Given the description of an element on the screen output the (x, y) to click on. 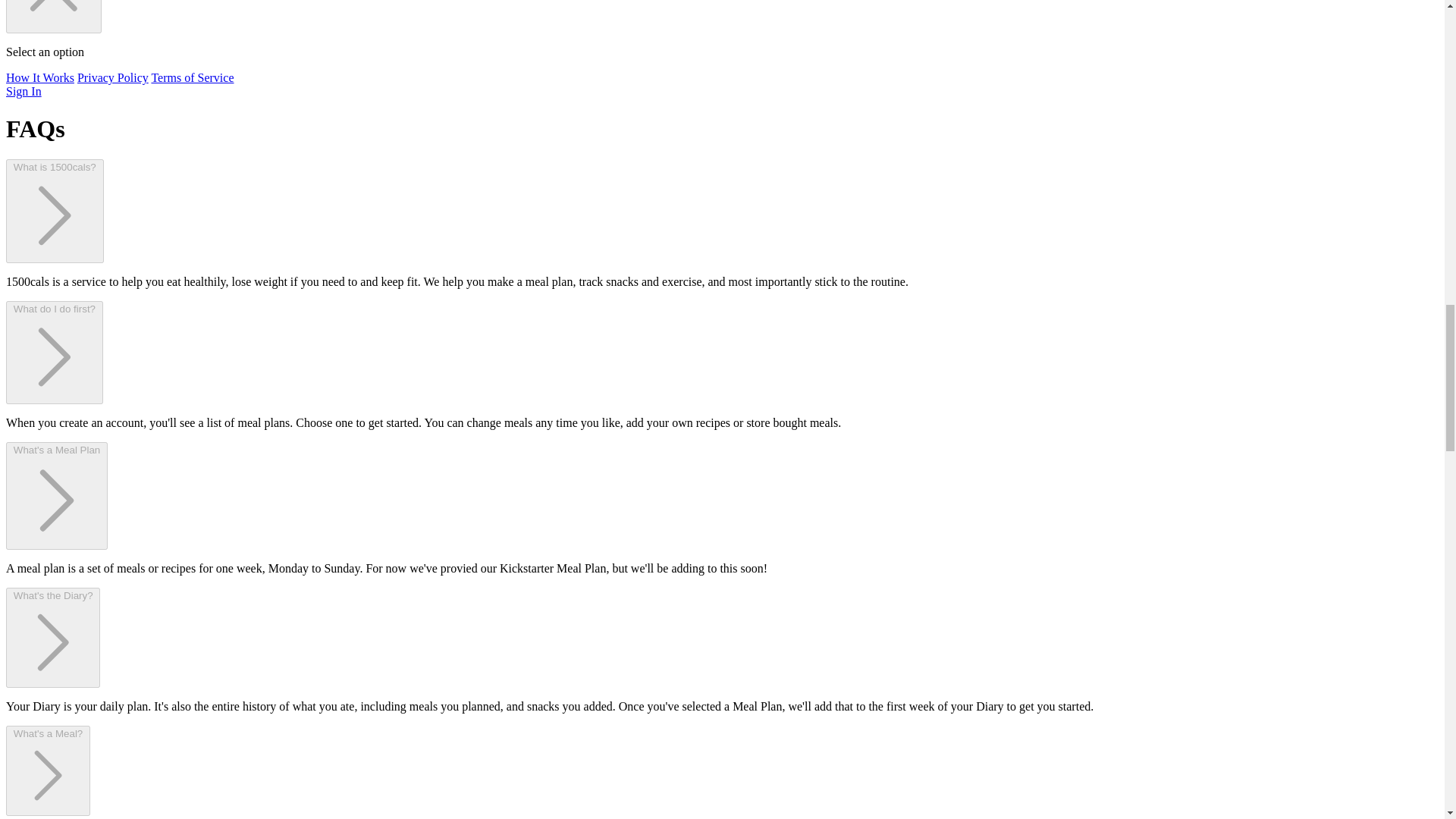
What's the Diary? (52, 637)
How It Works (39, 77)
Sign In (23, 91)
What do I do first? (54, 352)
Privacy Policy (112, 77)
What's a Meal Plan (56, 495)
Terms of Service (191, 77)
What's a Meal? (47, 770)
What is 1500cals? (54, 210)
Open main menu (53, 16)
